Given the description of an element on the screen output the (x, y) to click on. 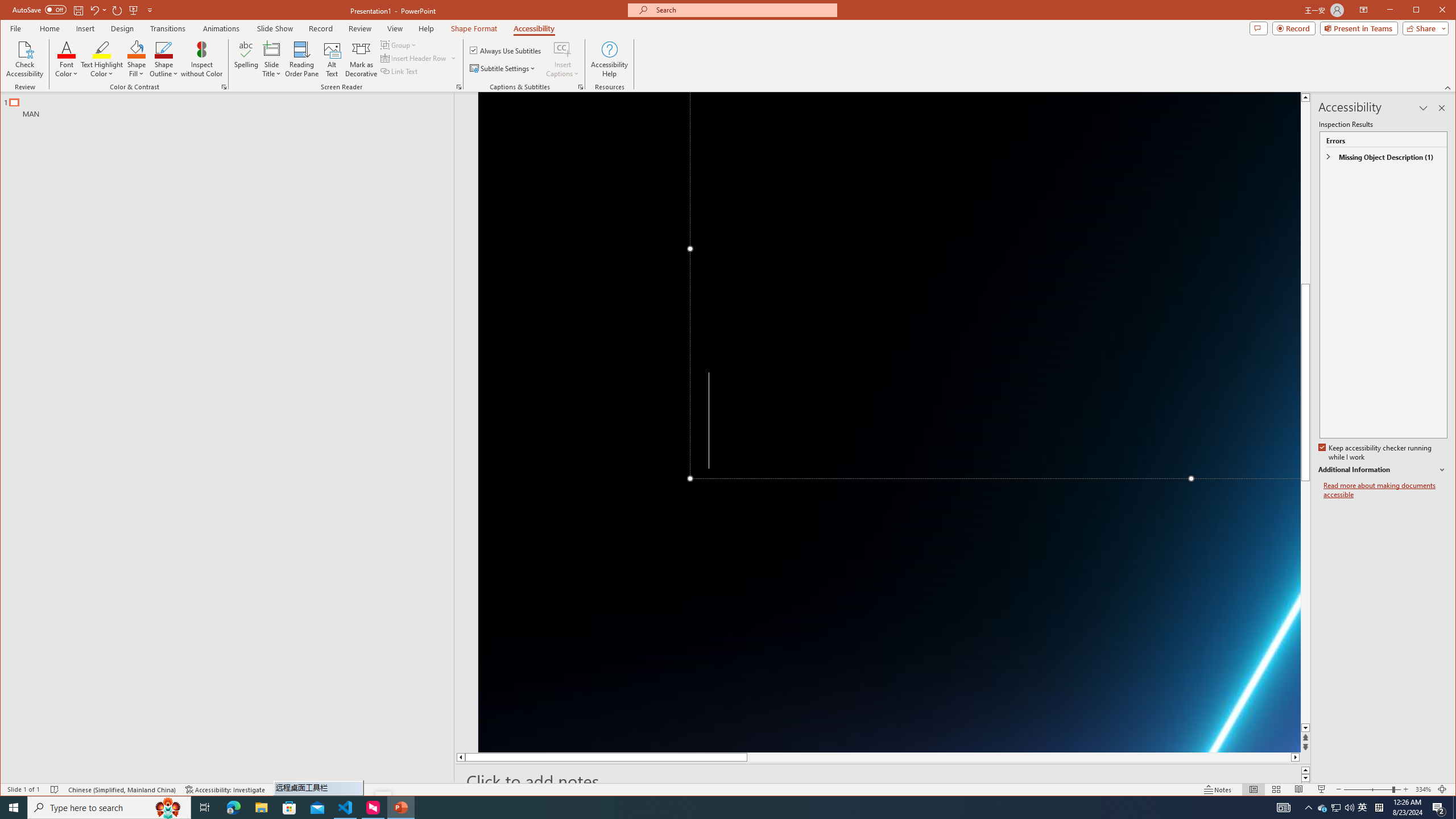
Subtitle TextBox (1003, 749)
Slide Title (271, 59)
Slide Notes (882, 780)
Running applications (700, 807)
Maximize (1432, 11)
Page up (1305, 177)
